Given the description of an element on the screen output the (x, y) to click on. 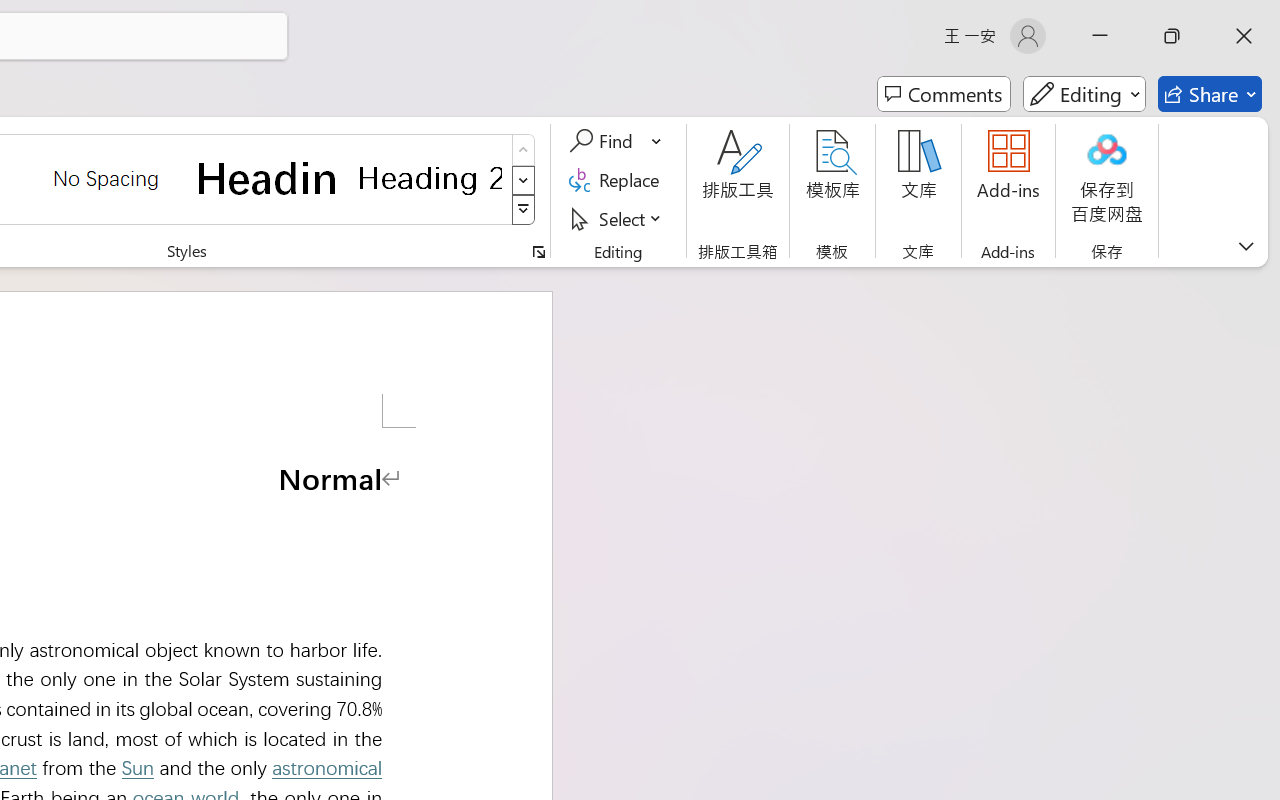
Styles (523, 209)
Heading 2 (429, 178)
Styles... (538, 252)
Row up (523, 150)
Heading 1 (267, 178)
Row Down (523, 180)
